Given the description of an element on the screen output the (x, y) to click on. 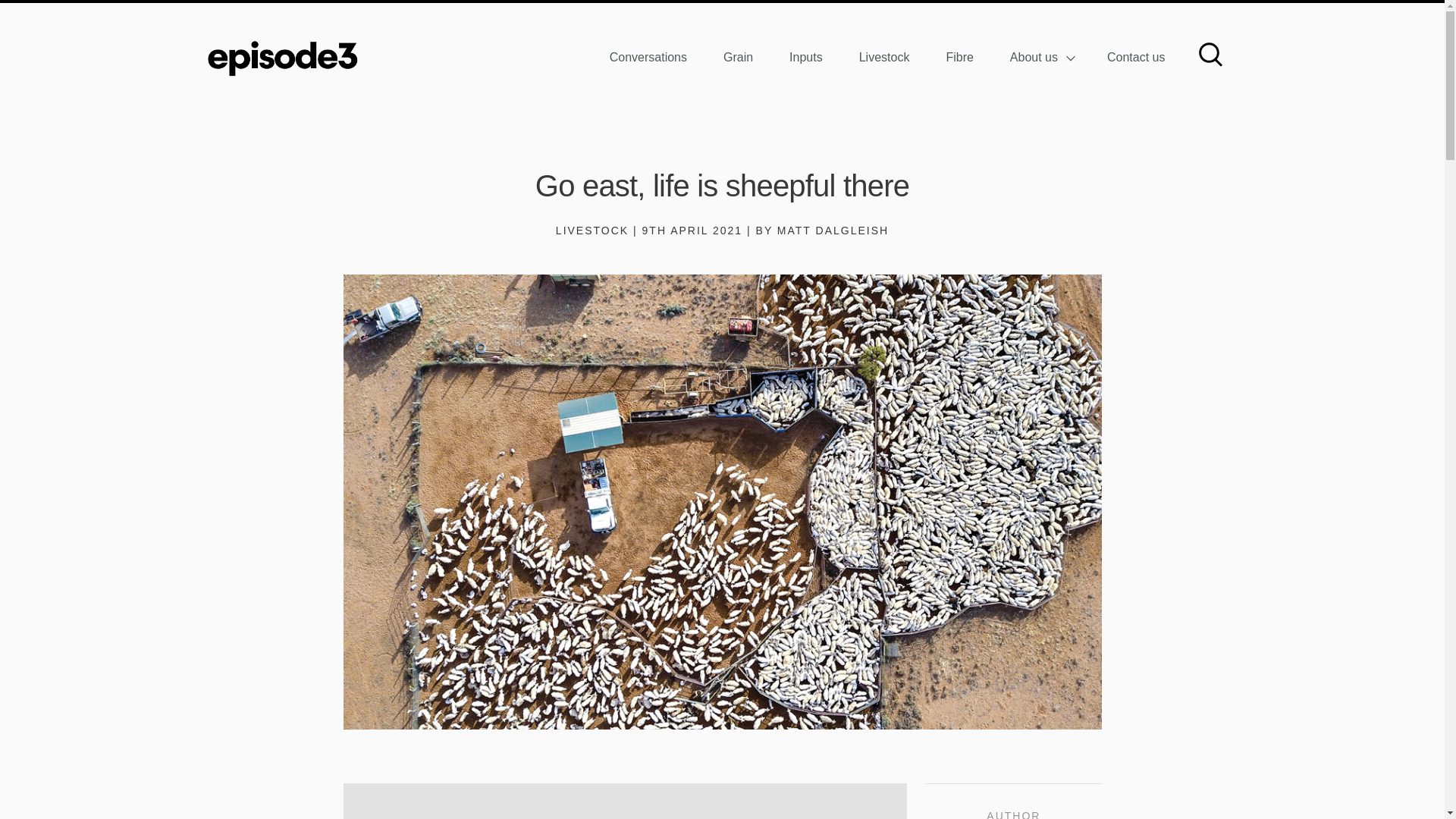
Grain (737, 56)
About us (1040, 56)
Livestock (884, 56)
Fibre (958, 56)
Episode3 home page (282, 57)
Contact us (1135, 56)
Inputs (805, 56)
Conversations (648, 56)
